Given the description of an element on the screen output the (x, y) to click on. 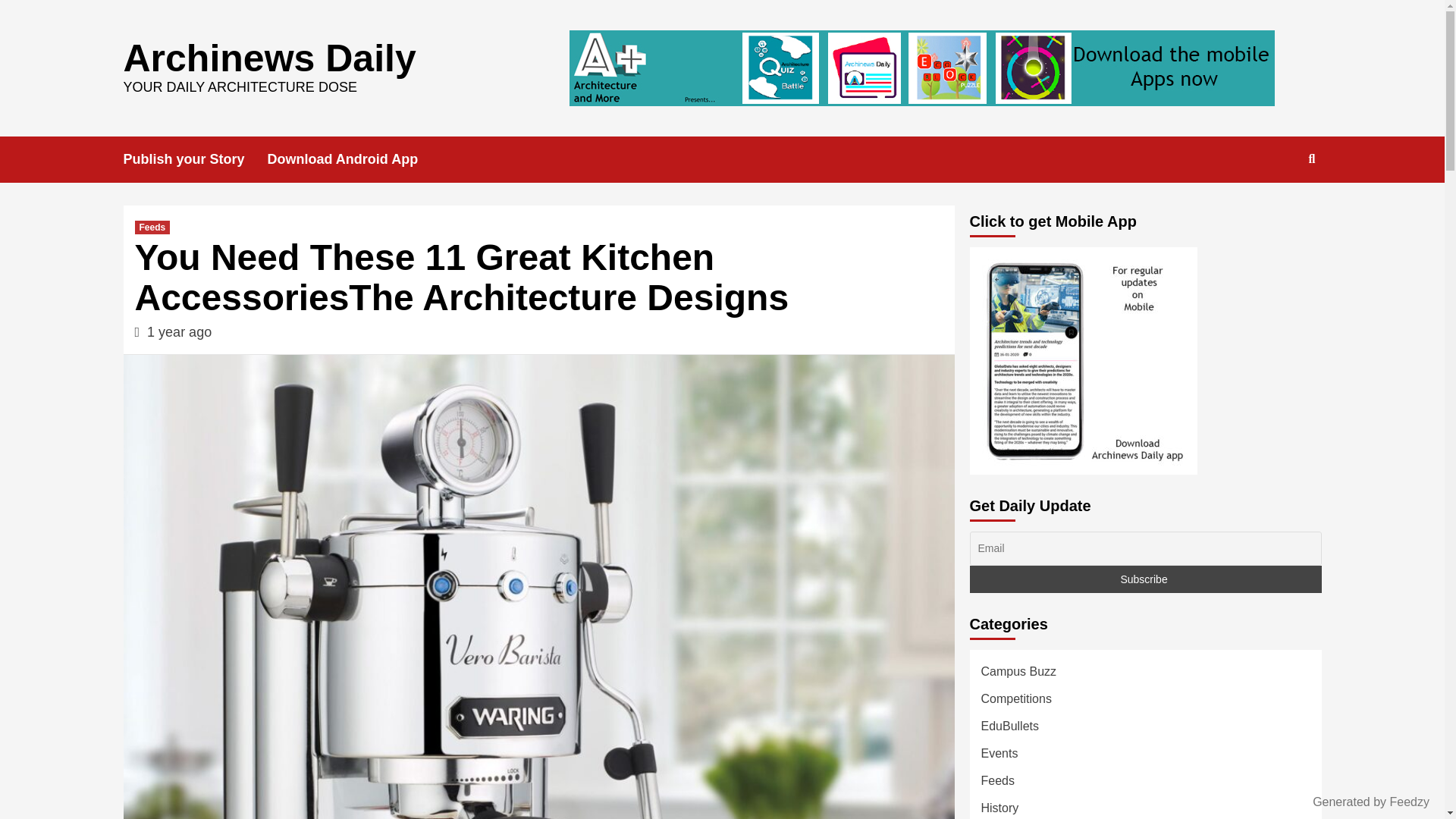
Publish your Story (194, 159)
Feeds (152, 227)
Competitions (1016, 702)
Subscribe  (1144, 578)
Download Android App (354, 159)
Search (1276, 207)
Archinews Daily (268, 57)
Search (1312, 158)
Click to get Mobile App (1082, 361)
Campus Buzz (1019, 675)
1 year ago (179, 331)
Subscribe  (1144, 578)
